Given the description of an element on the screen output the (x, y) to click on. 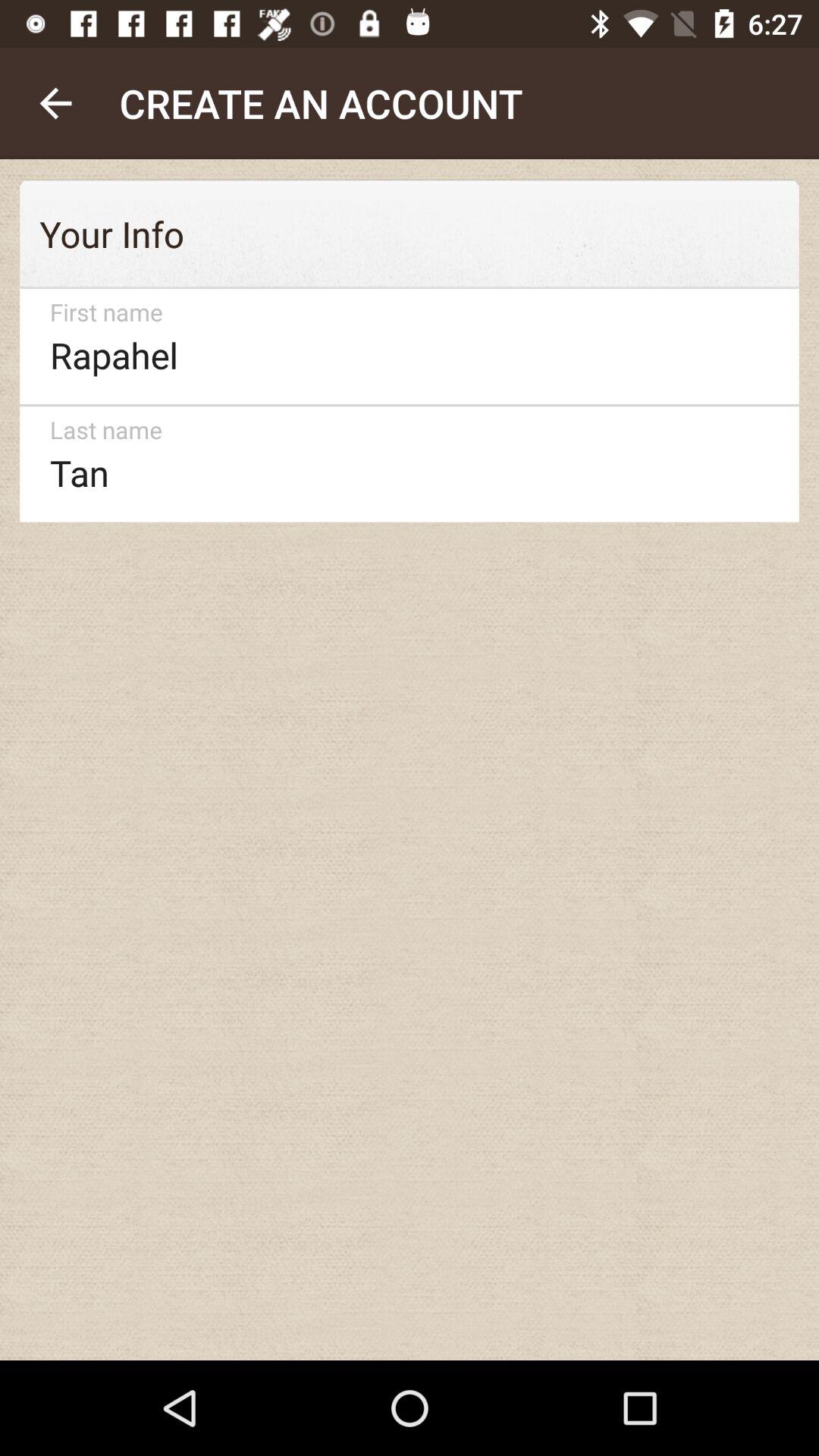
press the item next to the create an account icon (55, 103)
